Given the description of an element on the screen output the (x, y) to click on. 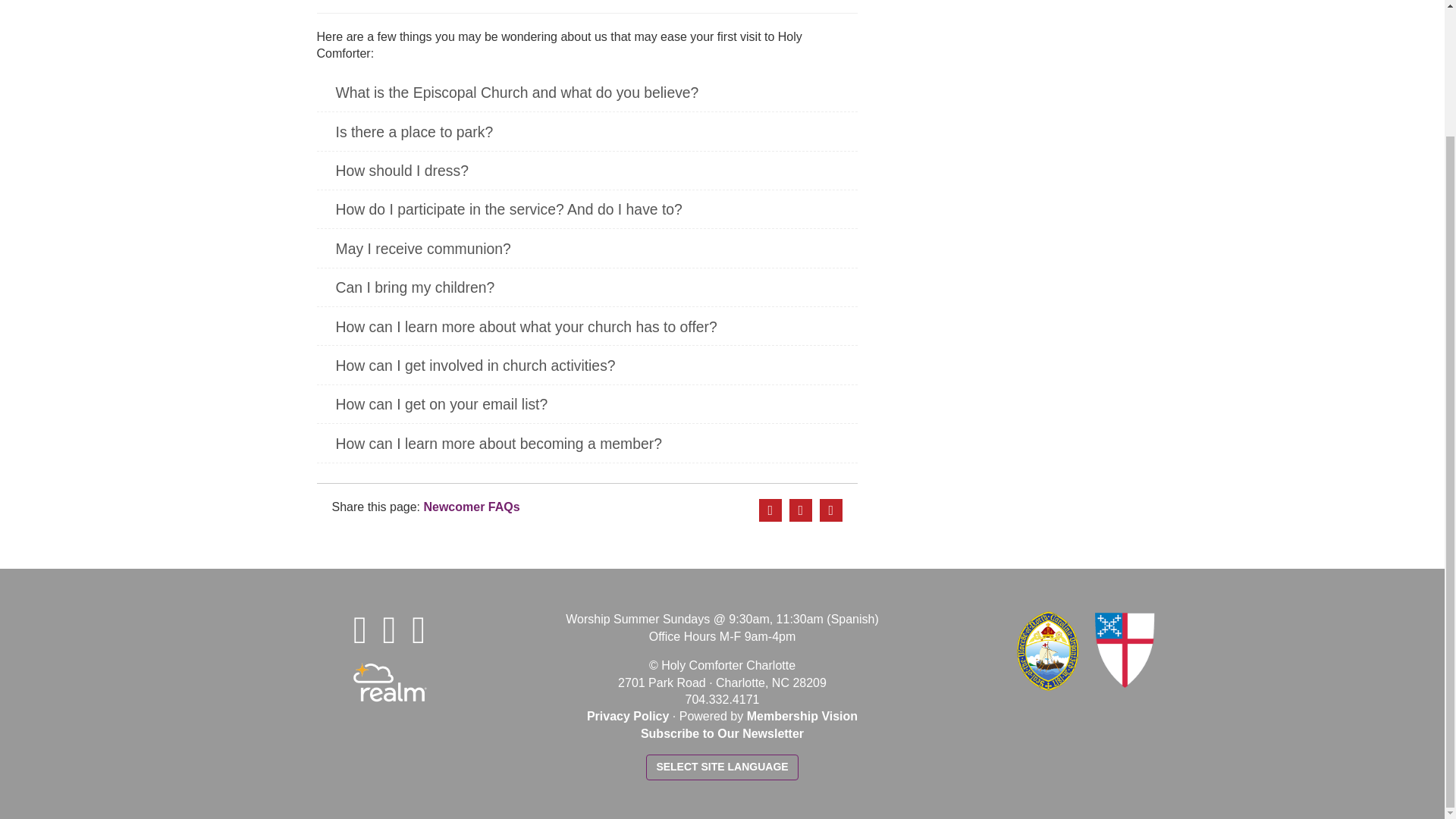
Share on Twitter (800, 509)
Share via Email (831, 509)
Share on Facebook (769, 509)
